Given the description of an element on the screen output the (x, y) to click on. 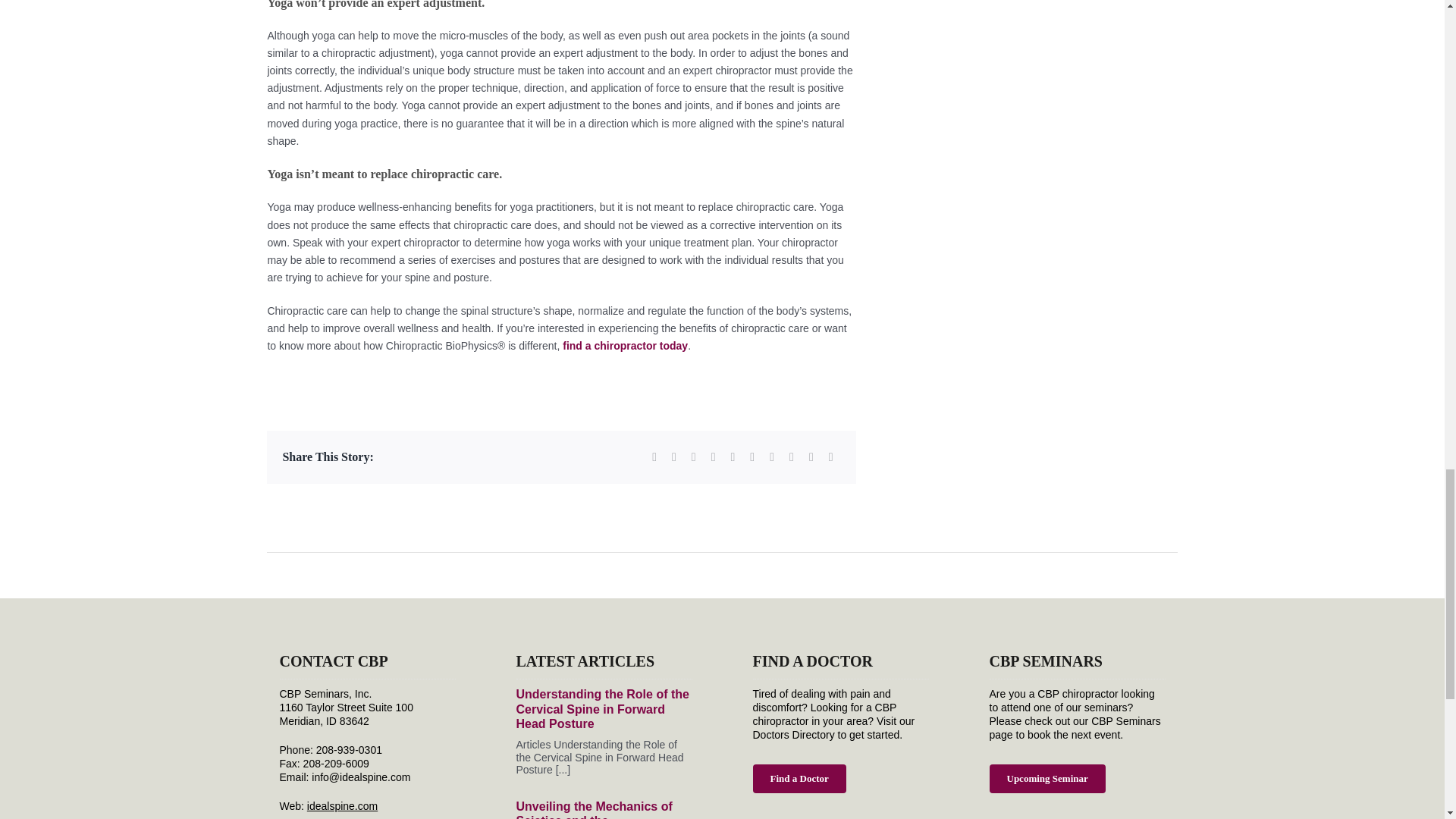
Facebook (654, 457)
LinkedIn (713, 457)
Tumblr (751, 457)
X (673, 457)
WhatsApp (732, 457)
Xing (811, 457)
Reddit (693, 457)
Pinterest (771, 457)
Email (831, 457)
Vk (791, 457)
